Given the description of an element on the screen output the (x, y) to click on. 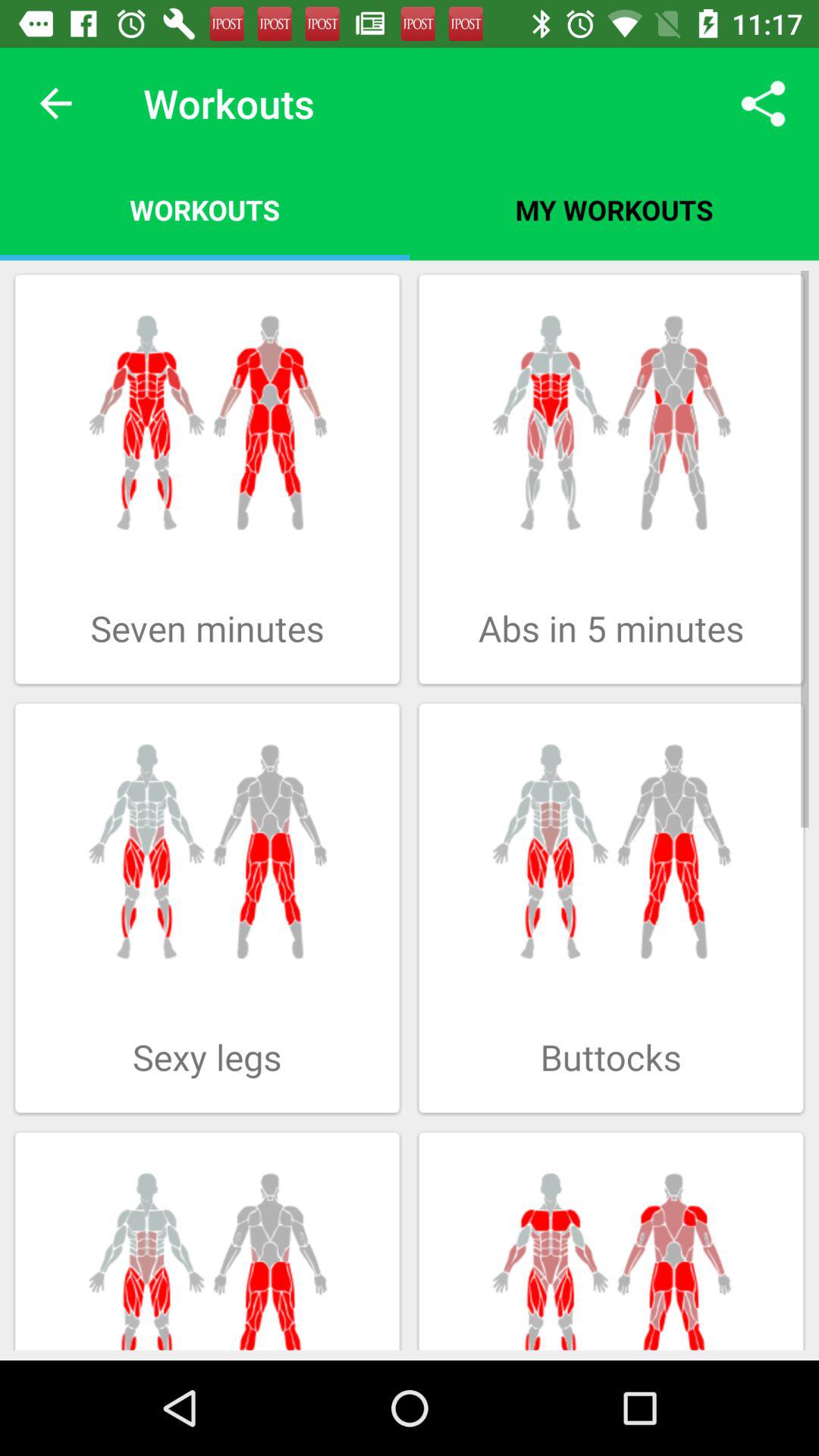
open the app above my workouts item (763, 103)
